Given the description of an element on the screen output the (x, y) to click on. 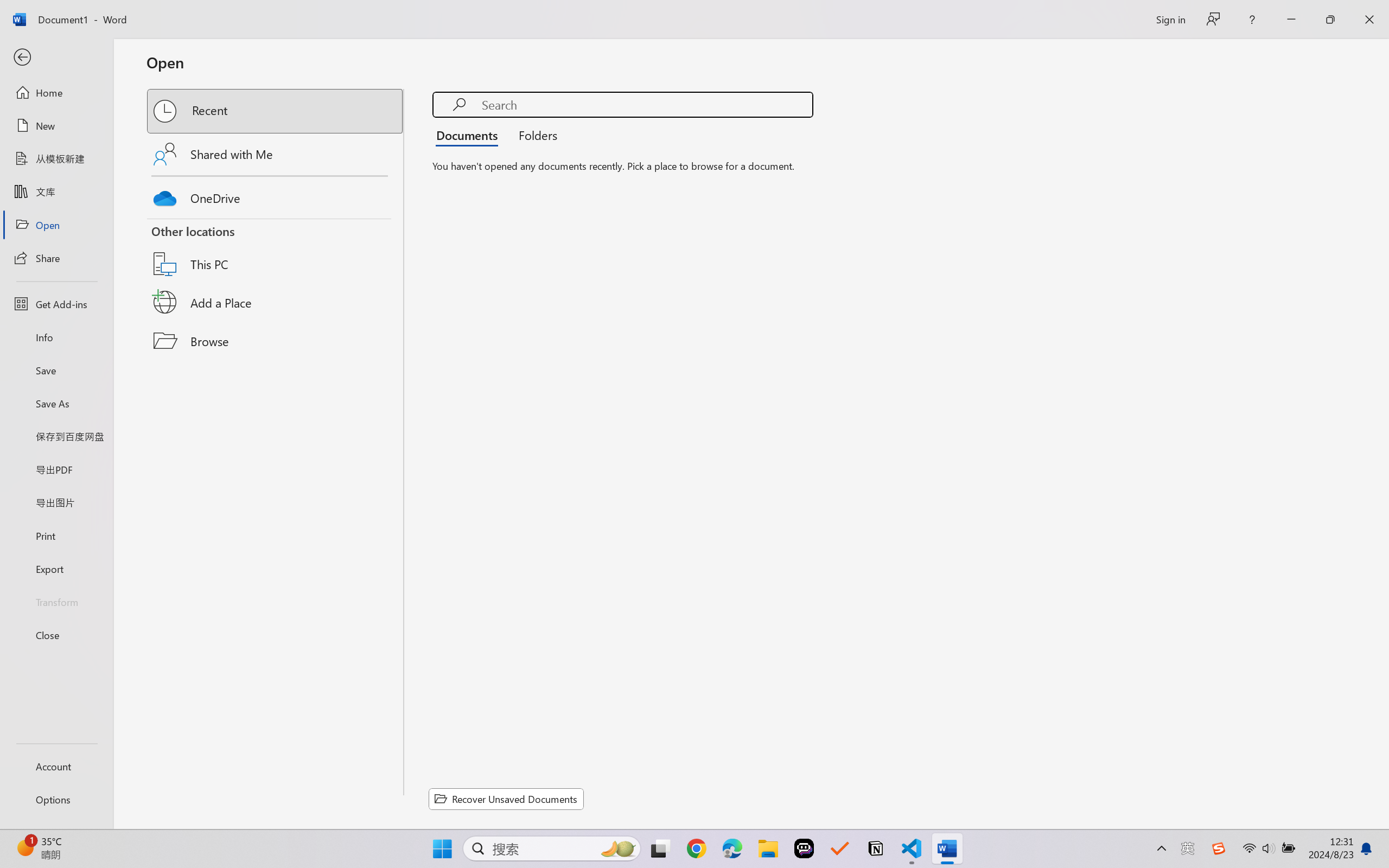
Print (56, 535)
Options (56, 798)
Add a Place (275, 302)
Get Add-ins (56, 303)
Folders (534, 134)
This PC (275, 249)
Export (56, 568)
Transform (56, 601)
Back (56, 57)
